Given the description of an element on the screen output the (x, y) to click on. 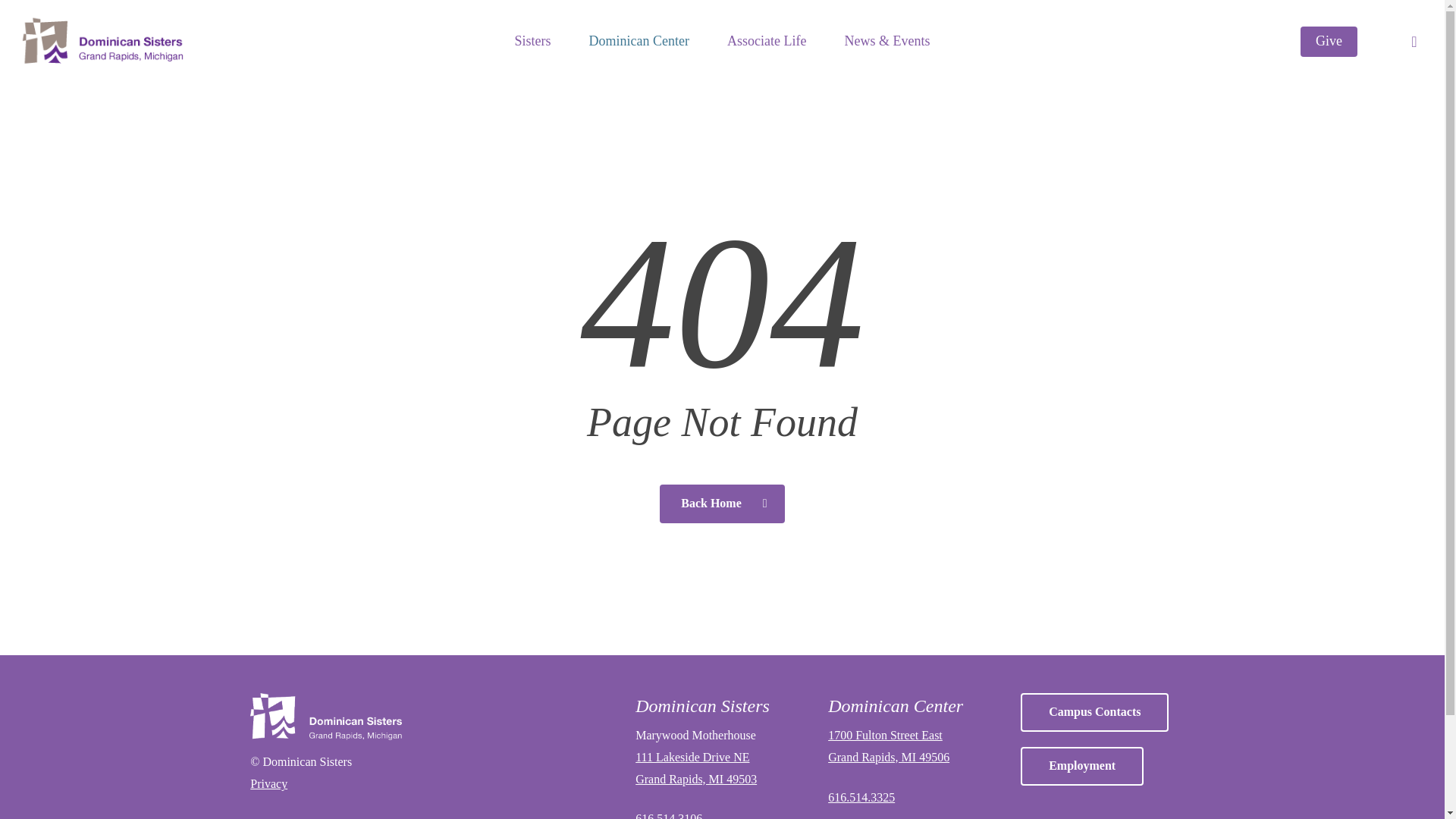
Dominican Center (638, 40)
Associate Life (766, 40)
Sisters (533, 40)
